Given the description of an element on the screen output the (x, y) to click on. 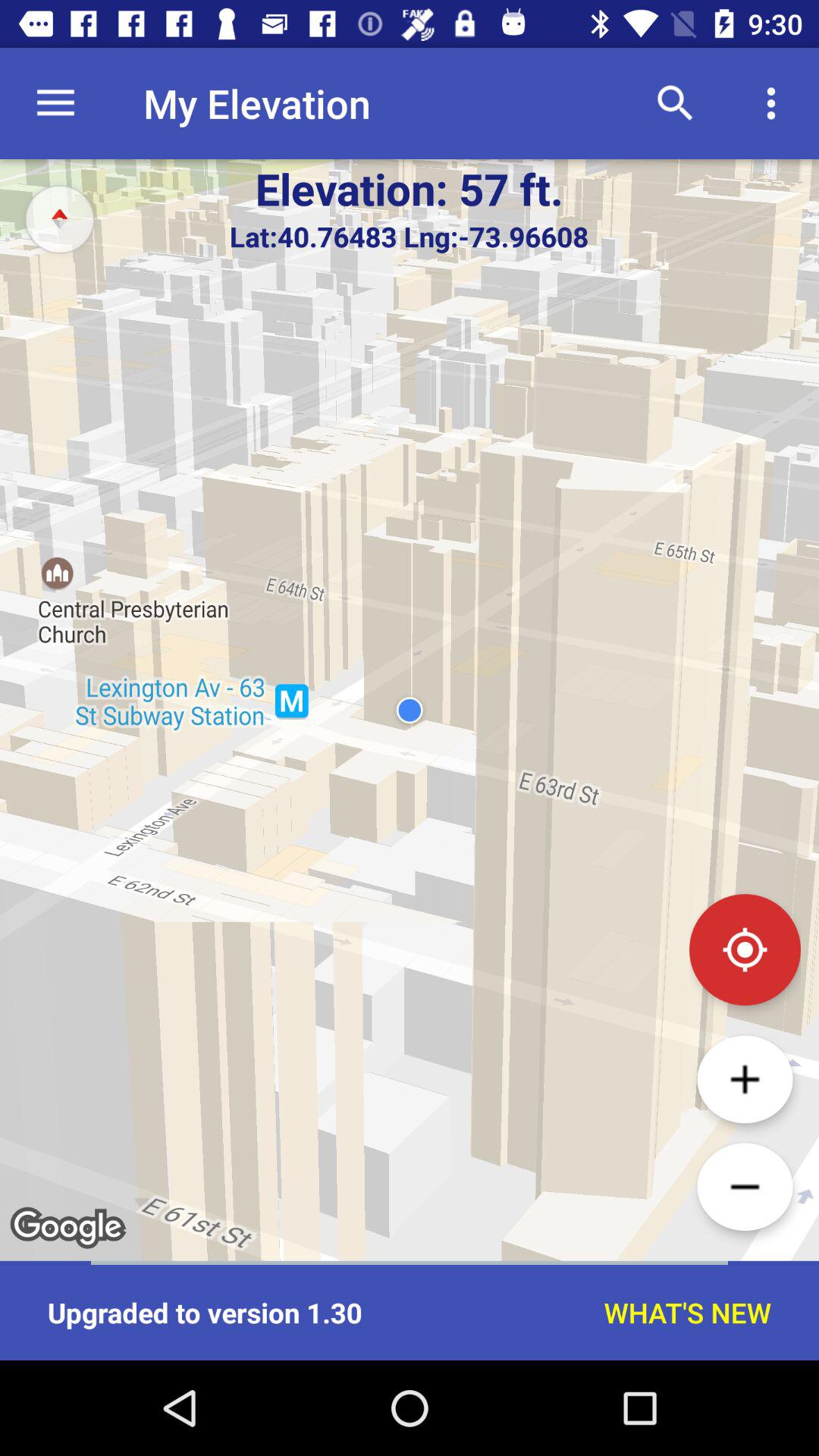
go to add bar (744, 1079)
